Given the description of an element on the screen output the (x, y) to click on. 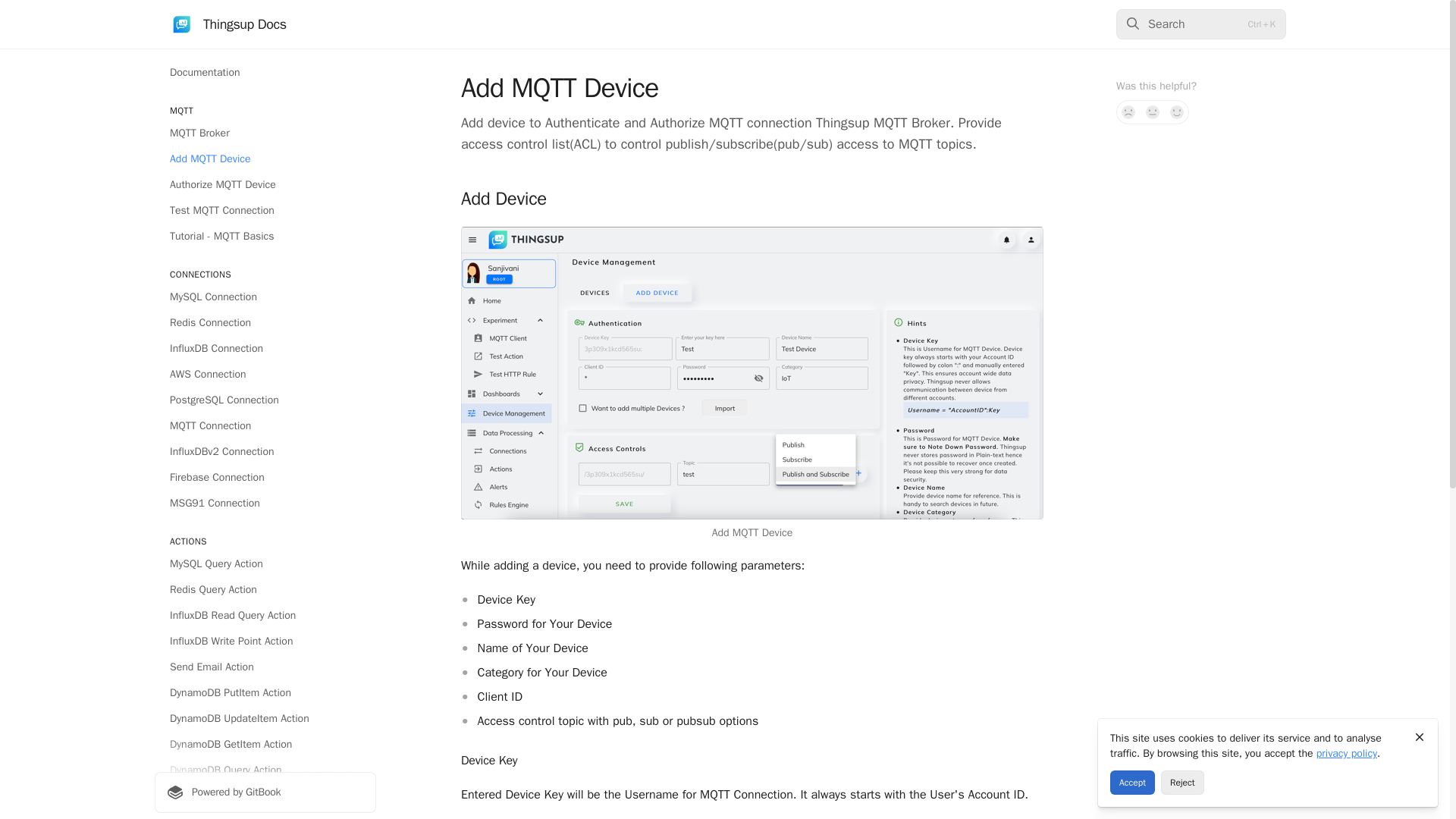
No (1128, 111)
Thingsup Docs (228, 24)
DynamoDB Scan Action (264, 795)
PostgreSQL Connection (264, 400)
DynamoDB PutItem Action (264, 692)
Yes, it was! (1176, 111)
Not sure (1152, 111)
MQTT Broker (264, 133)
DynamoDB GetItem Action (264, 744)
DynamoDB Query Action (264, 770)
Redis Connection (264, 322)
MySQL Query Action (264, 564)
MSG91 Connection (264, 503)
Documentation (264, 72)
InfluxDB Read Query Action (264, 615)
